Given the description of an element on the screen output the (x, y) to click on. 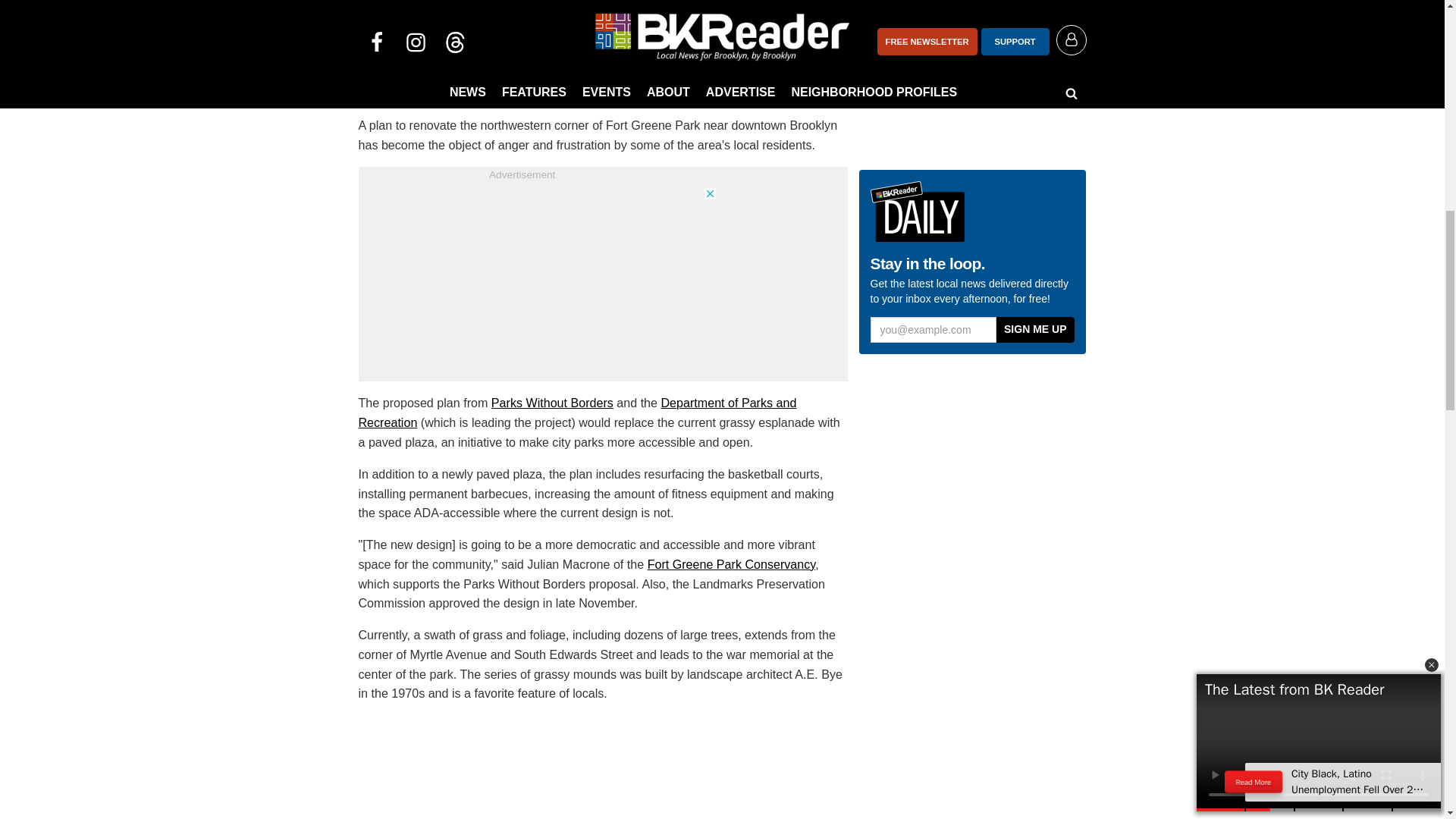
3rd party ad content (602, 281)
Sign me up (1034, 329)
3rd party ad content (972, 414)
